Given the description of an element on the screen output the (x, y) to click on. 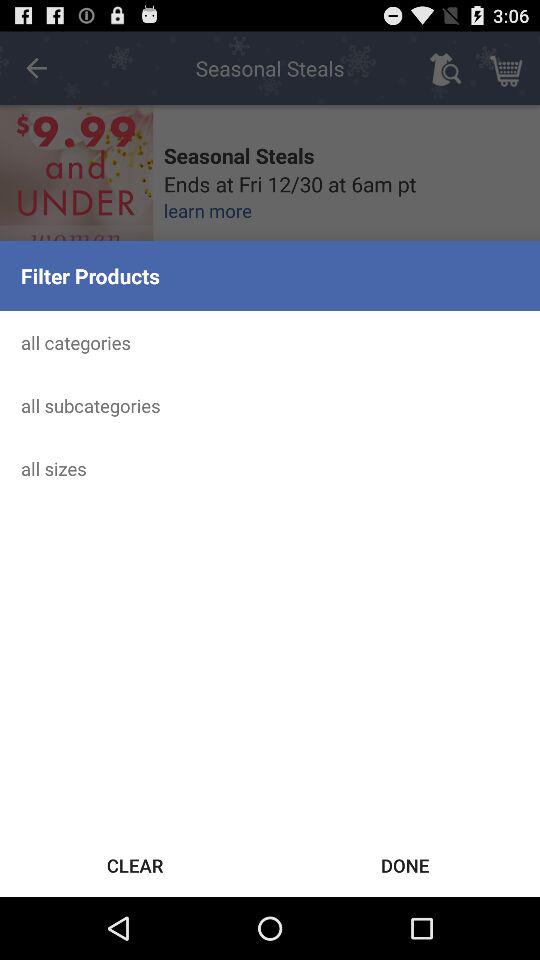
scroll to the clear icon (135, 864)
